Given the description of an element on the screen output the (x, y) to click on. 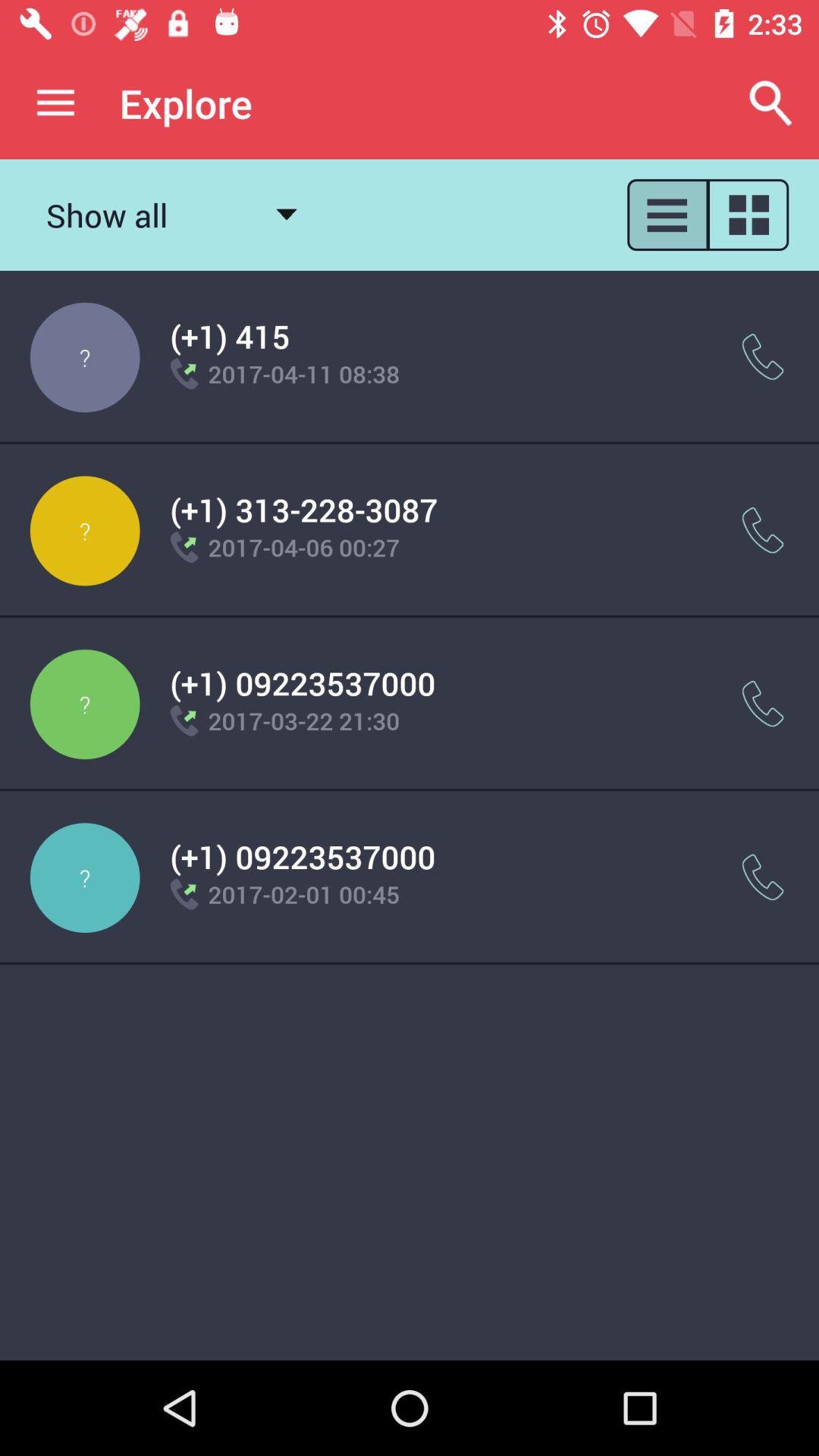
click item next to the explore icon (55, 103)
